Given the description of an element on the screen output the (x, y) to click on. 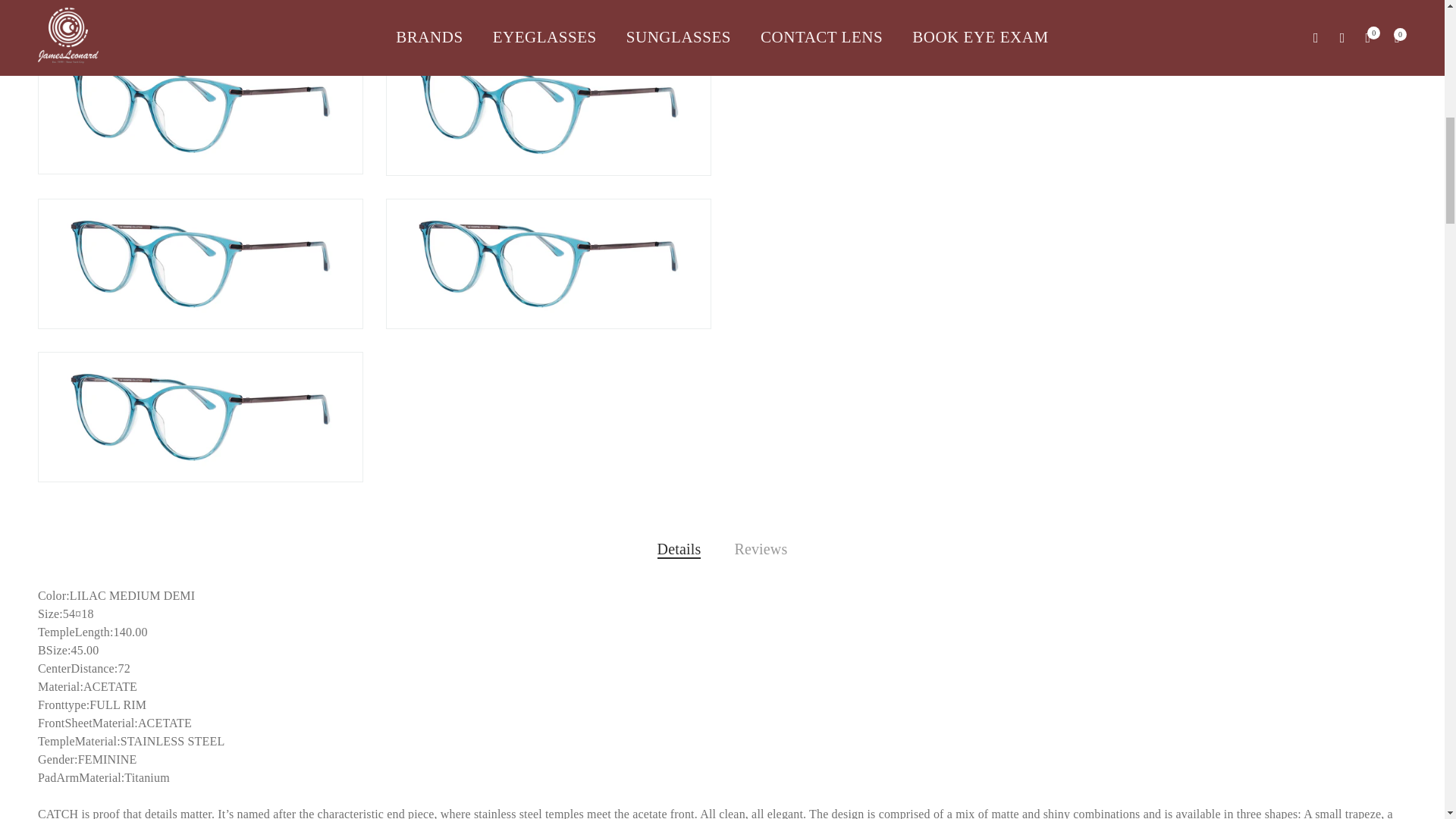
Reviews (760, 549)
Details (679, 549)
